Given the description of an element on the screen output the (x, y) to click on. 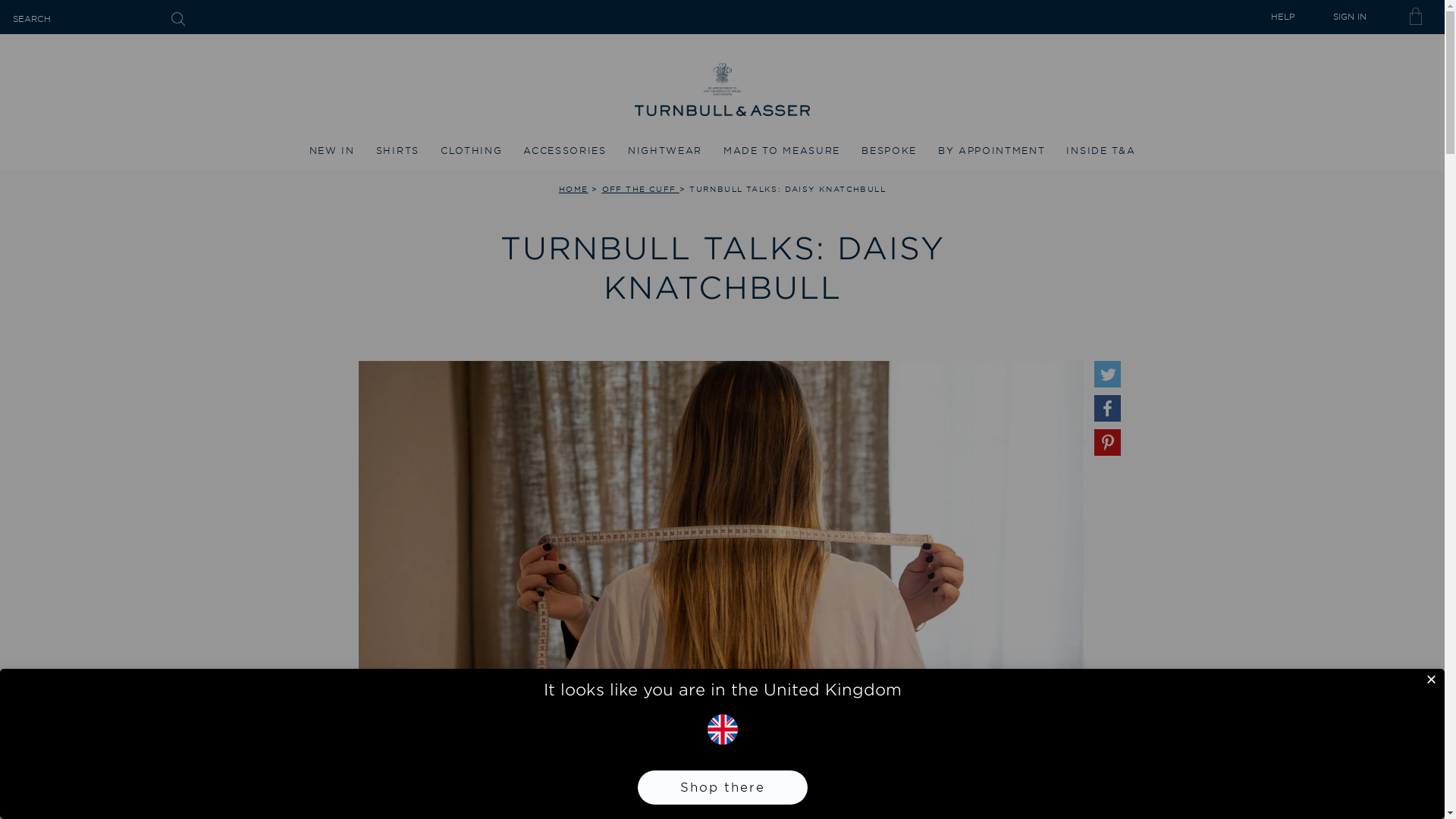
SHIRTS (397, 152)
SIGN IN (1350, 17)
HELP (1286, 17)
Search (177, 18)
SHOPPING BAG (1419, 17)
NEW IN (331, 152)
Search (177, 18)
Go to Home Page (573, 188)
